Given the description of an element on the screen output the (x, y) to click on. 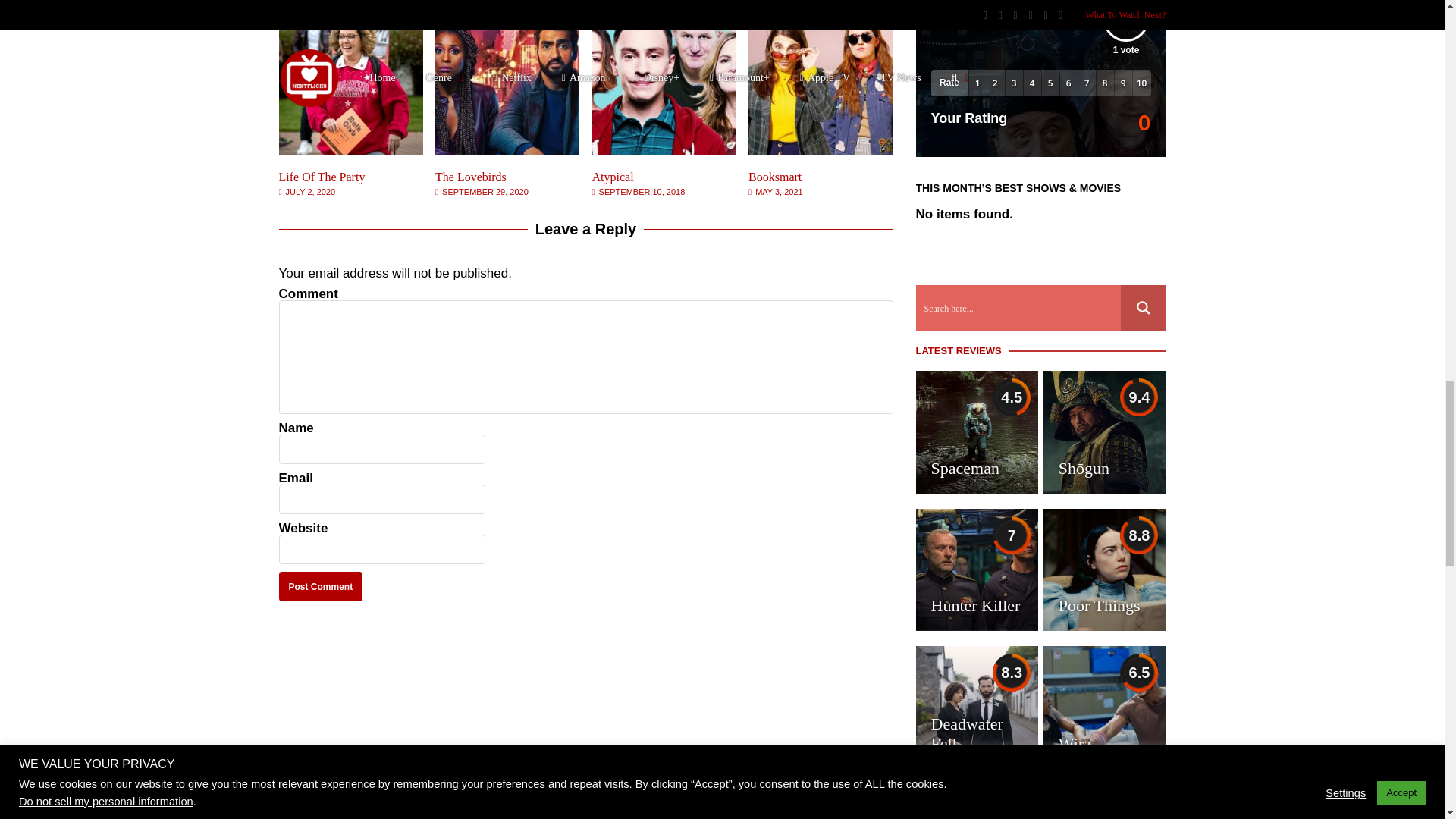
Atypical (664, 151)
The Lovebirds (470, 176)
The Lovebirds (507, 151)
Life Of The Party (322, 176)
Atypical (612, 176)
Life Of The Party (351, 151)
Post Comment (320, 586)
